Given the description of an element on the screen output the (x, y) to click on. 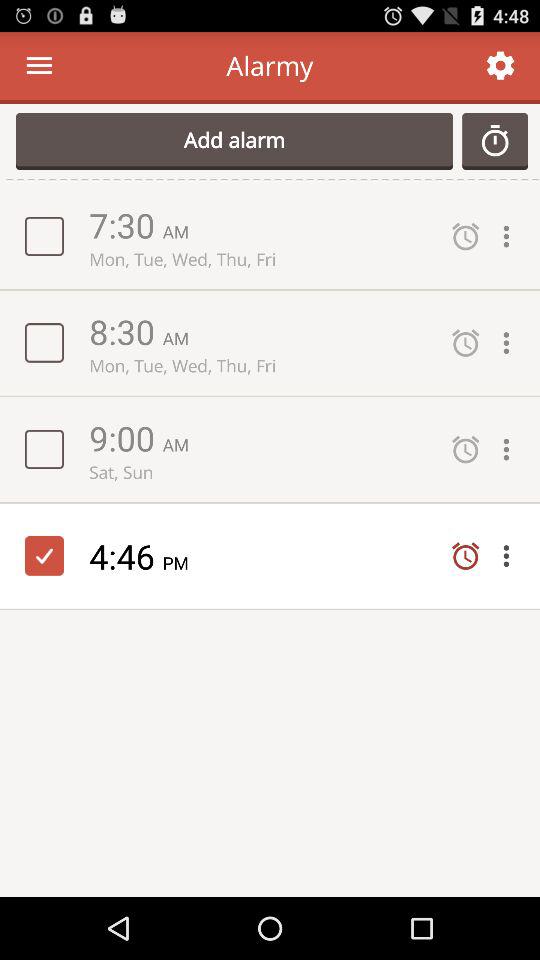
choose icon above the 4:46 item (259, 471)
